Given the description of an element on the screen output the (x, y) to click on. 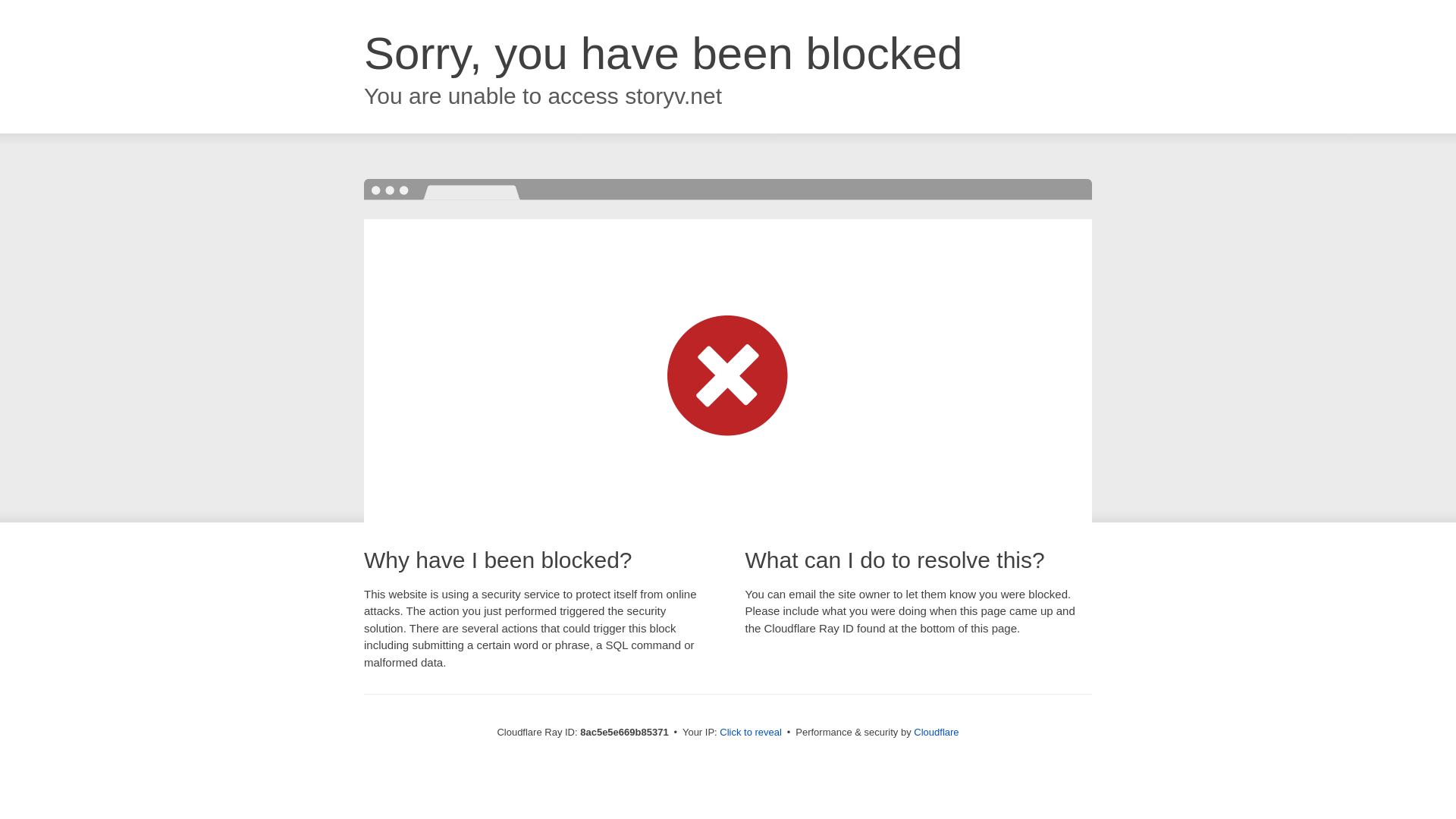
Click to reveal (750, 732)
Cloudflare (936, 731)
